Given the description of an element on the screen output the (x, y) to click on. 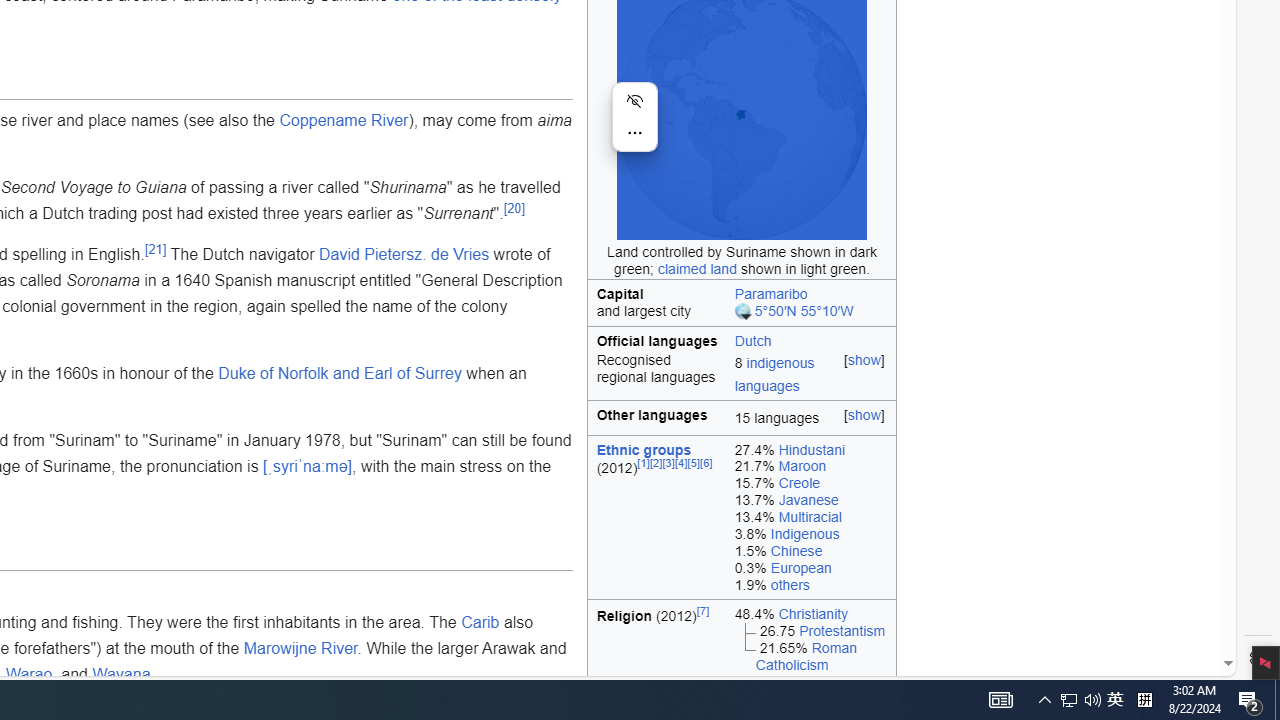
21.7% Maroon (810, 466)
[show] 8 indigenous languages (811, 376)
Class: mergedtoprow (742, 339)
Hinduism (808, 681)
[4] (681, 463)
David Pietersz. de Vries (404, 255)
Hindustani (812, 448)
[7] (703, 610)
others (790, 584)
[show] (864, 415)
Dutch (811, 339)
Other languages (657, 418)
Carib (480, 623)
Chinese (796, 550)
